Given the description of an element on the screen output the (x, y) to click on. 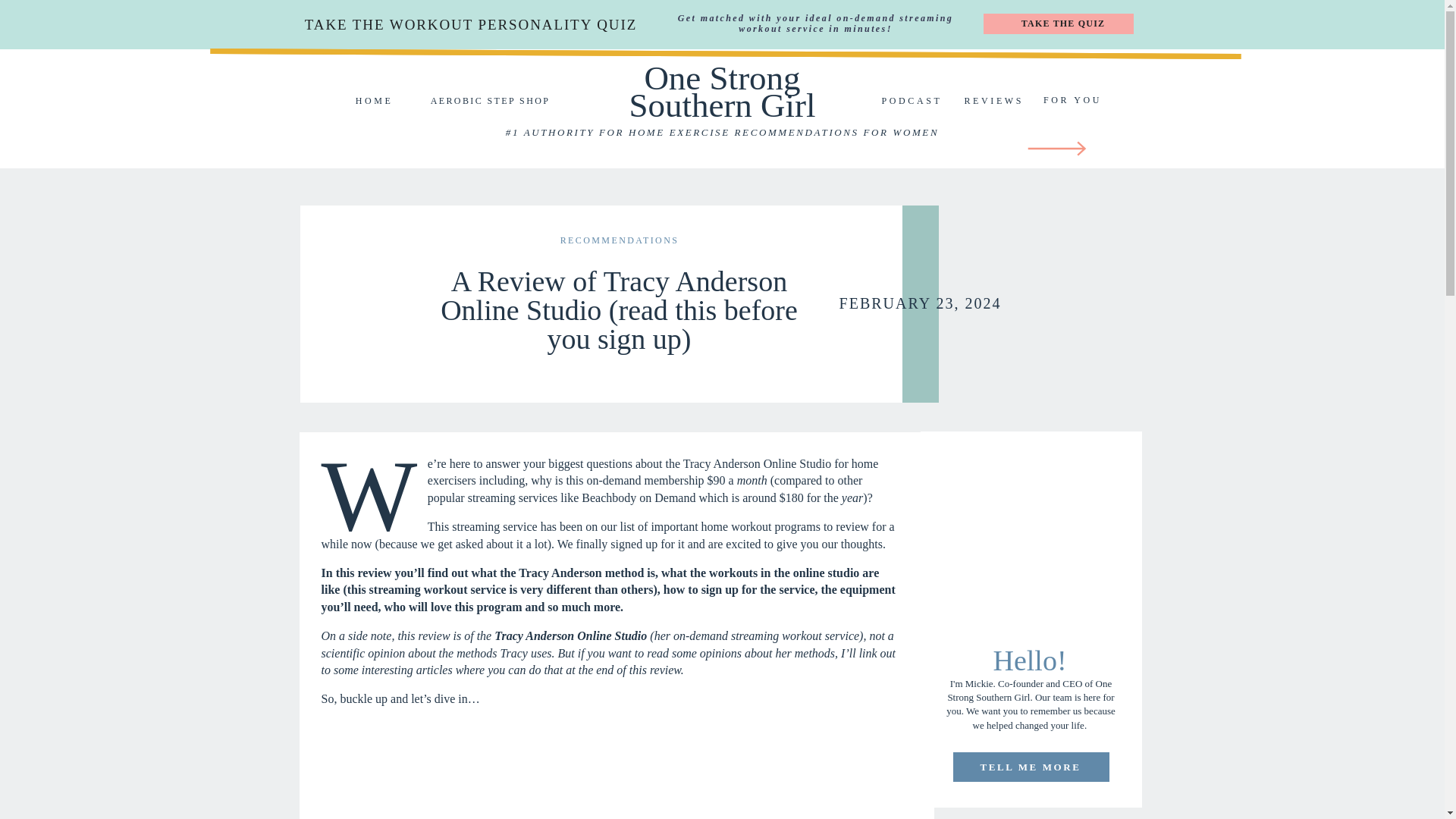
RECOMMENDATIONS (619, 240)
TAKE THE QUIZ (1063, 23)
FOR YOU (1072, 100)
One Strong Southern Girl (721, 92)
TELL ME MORE (1029, 767)
PODCAST (911, 101)
HOME (374, 101)
AEROBIC STEP SHOP (490, 101)
REVIEWS (993, 101)
